Given the description of an element on the screen output the (x, y) to click on. 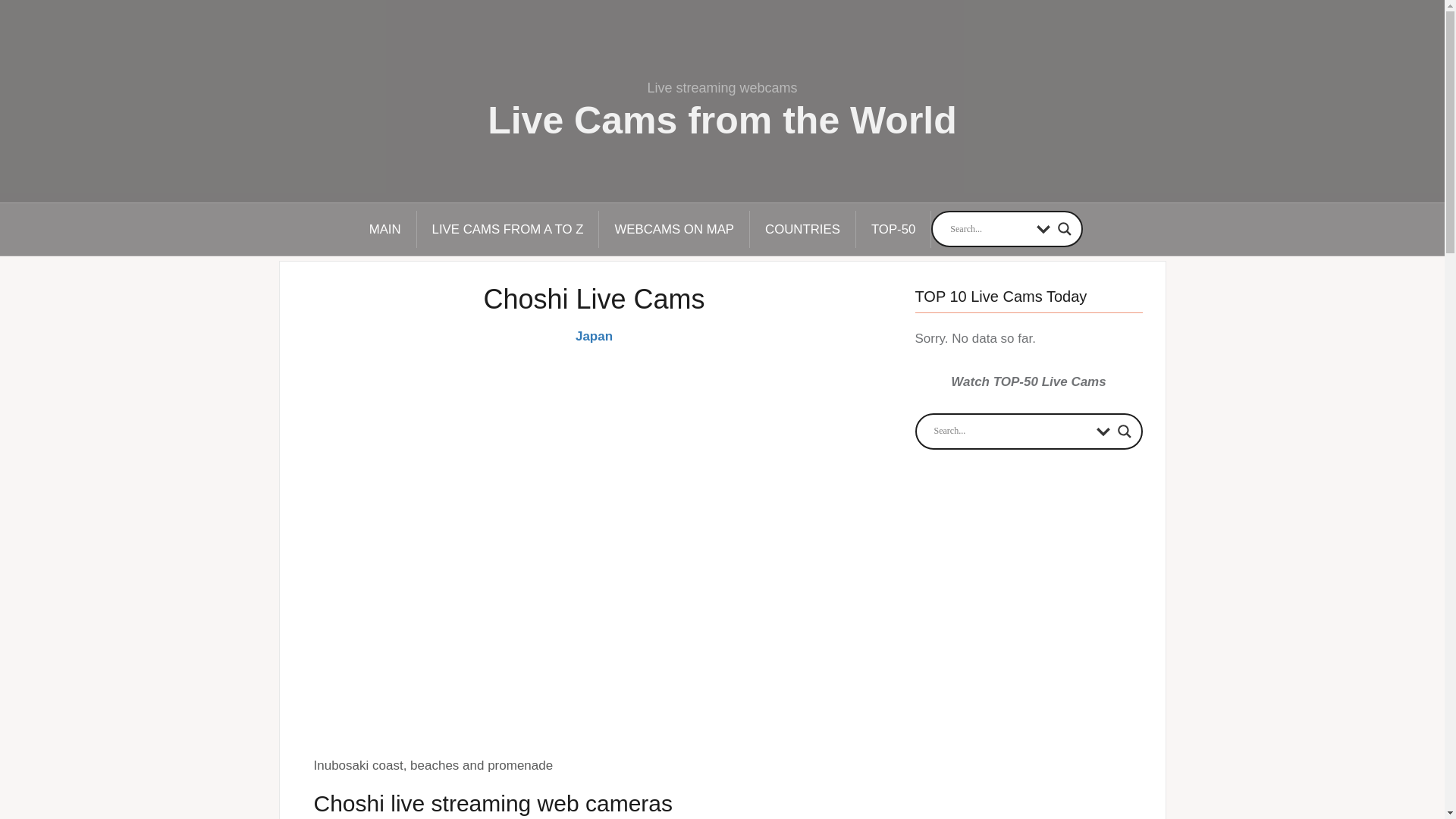
MAIN (384, 229)
WEBCAMS ON MAP (673, 229)
Live Cams from the World (721, 120)
Watch TOP-50 Live Cams (1027, 381)
COUNTRIES (802, 229)
LIVE CAMS FROM A TO Z (507, 229)
TOP-50 (893, 229)
Japan (593, 336)
